Given the description of an element on the screen output the (x, y) to click on. 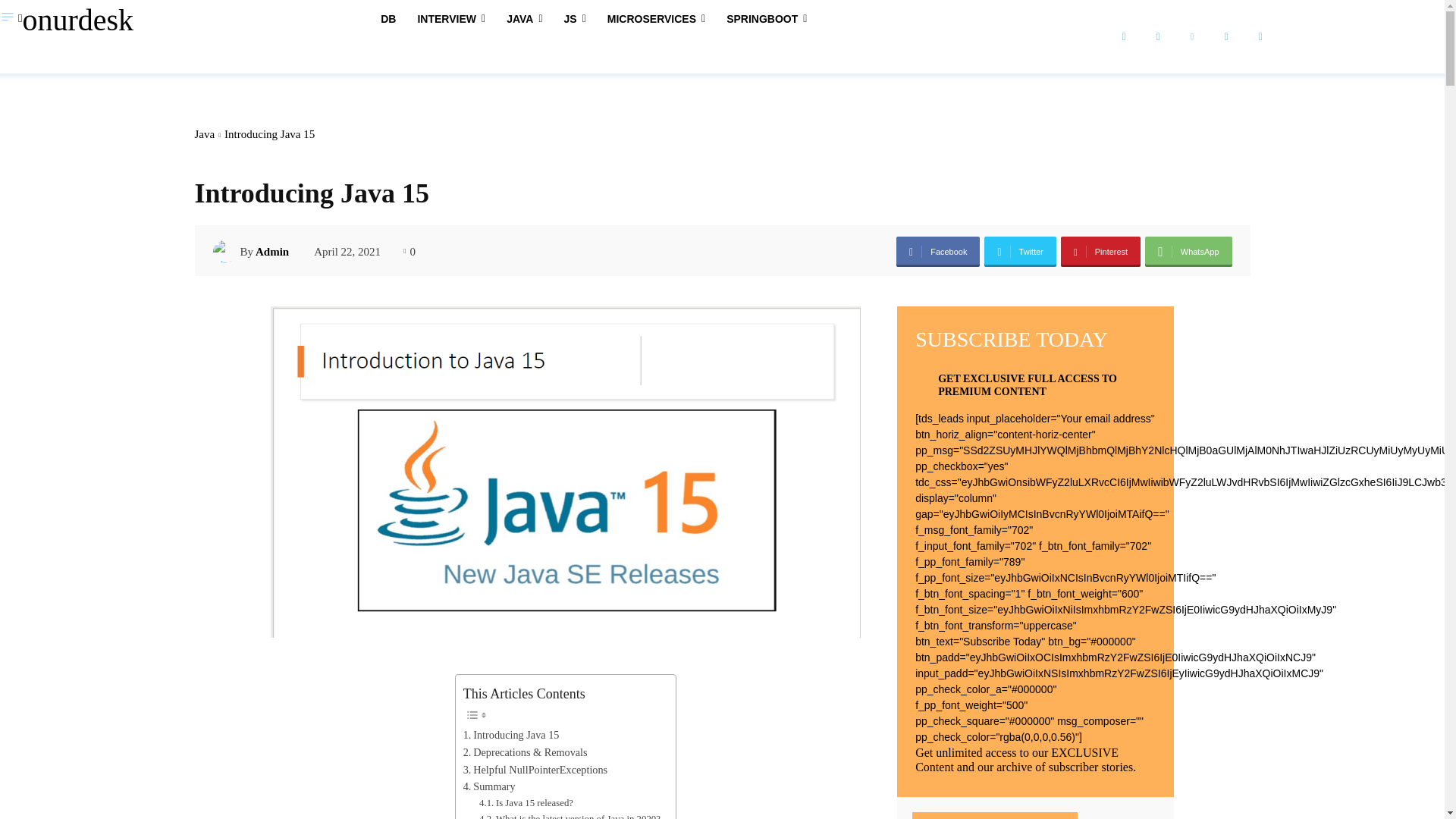
DB (387, 18)
Facebook (937, 251)
Twitter (1020, 251)
JAVA (524, 18)
WhatsApp (1187, 251)
Twitter (1260, 36)
SPRINGBOOT (766, 18)
JS (574, 18)
Pinterest (1100, 251)
onurdesk (79, 20)
Instagram (1158, 36)
Admin (226, 251)
Facebook (1123, 36)
Telegram (1226, 36)
Linkedin (1192, 36)
